Given the description of an element on the screen output the (x, y) to click on. 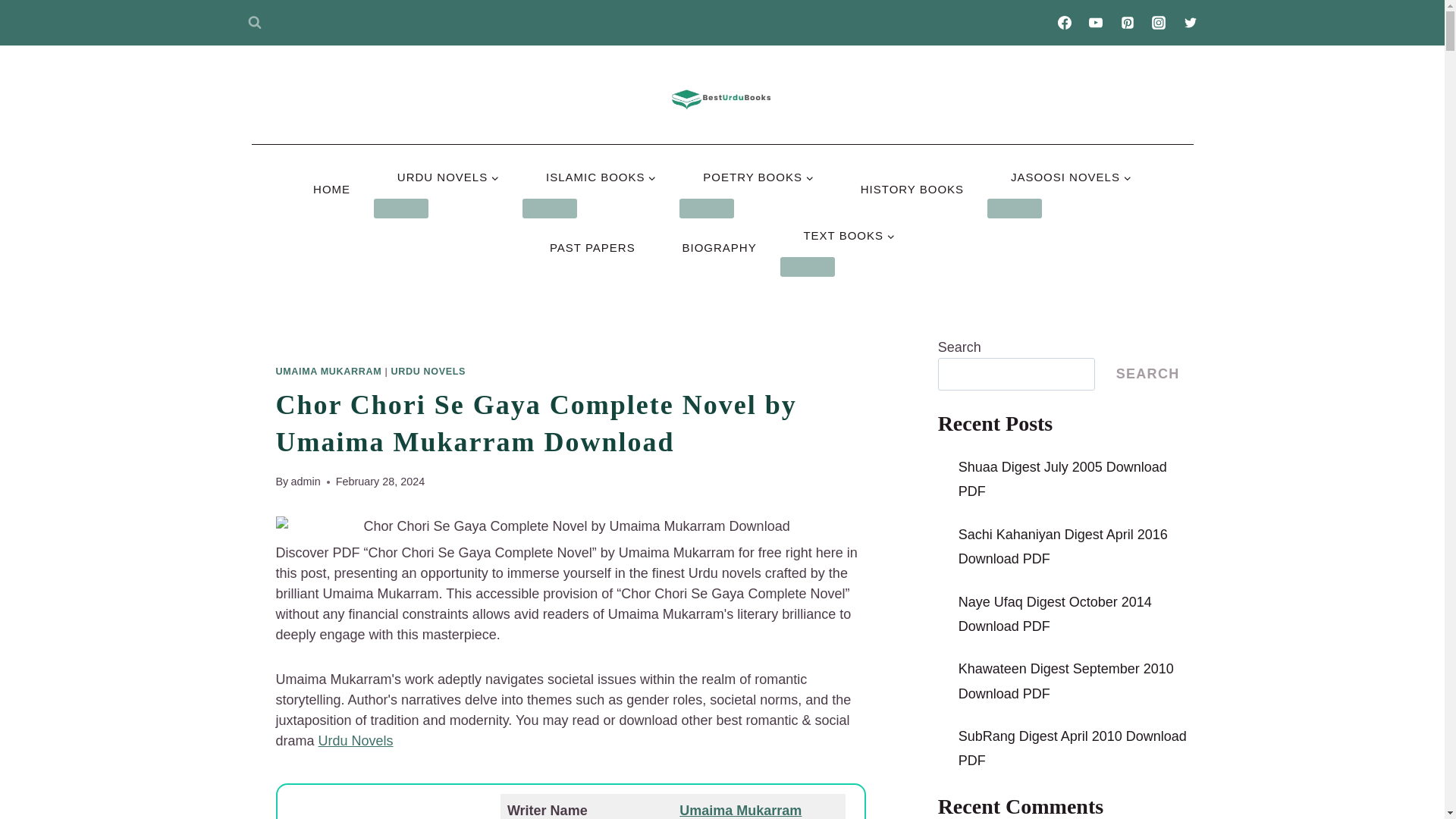
POETRY BOOKS (757, 176)
HOME (331, 188)
JASOOSI NOVELS (1070, 176)
ISLAMIC BOOKS (600, 176)
URDU NOVELS (448, 176)
HISTORY BOOKS (912, 188)
